Given the description of an element on the screen output the (x, y) to click on. 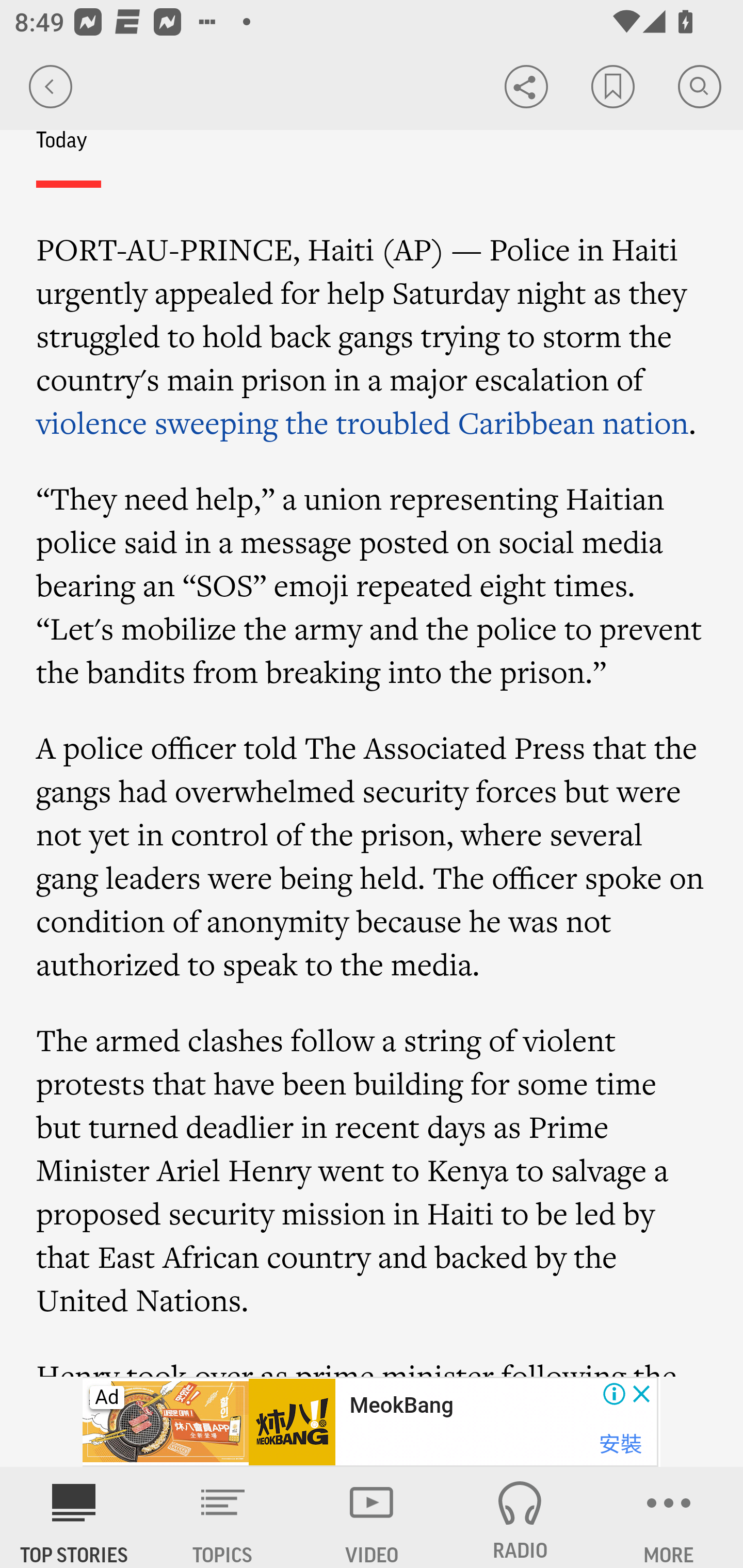
violence sweeping the troubled Caribbean nation (362, 423)
MeokBang (400, 1405)
安裝 (620, 1444)
AP News TOP STORIES (74, 1517)
TOPICS (222, 1517)
VIDEO (371, 1517)
RADIO (519, 1517)
MORE (668, 1517)
